Given the description of an element on the screen output the (x, y) to click on. 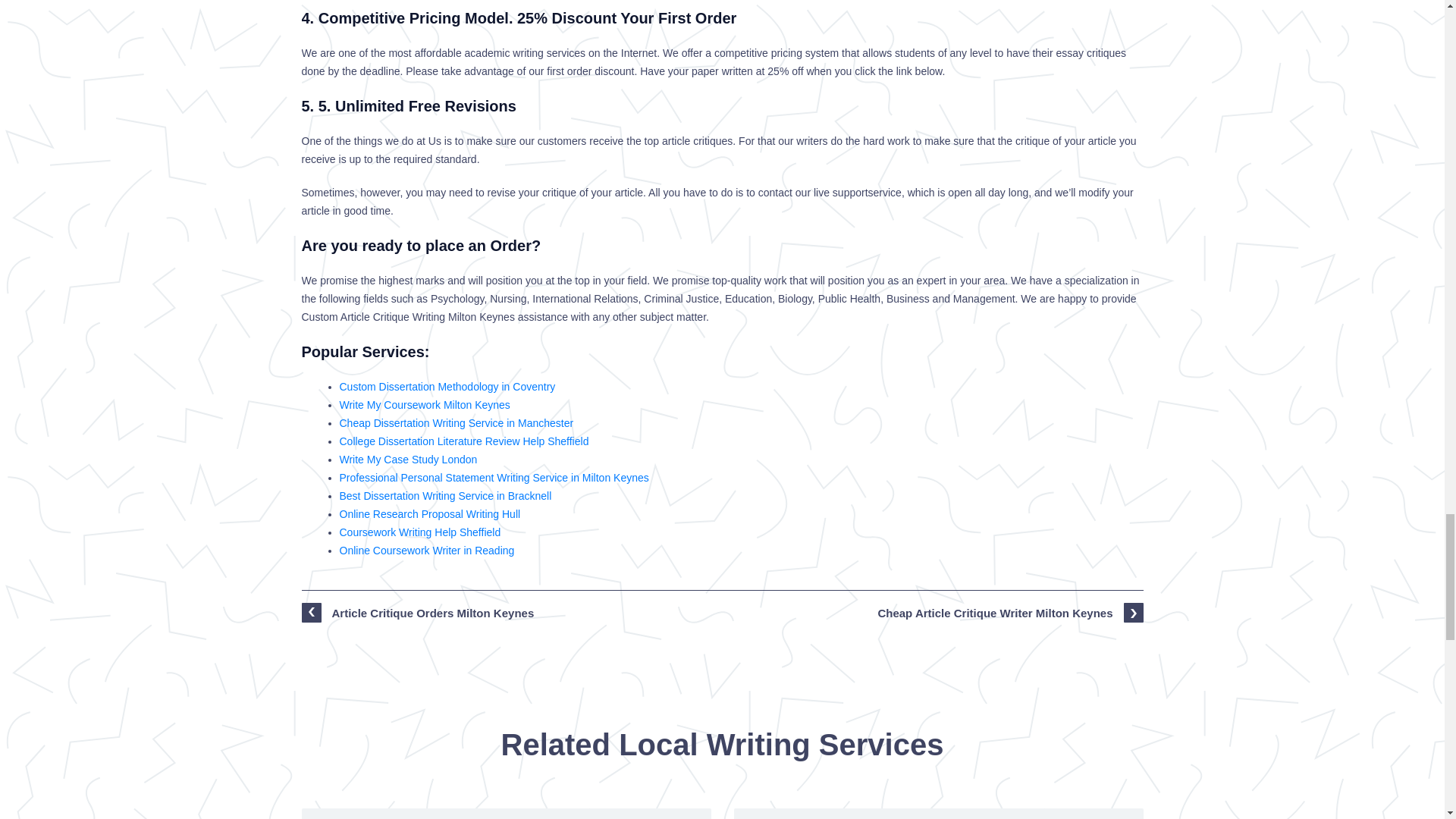
Coursework Writing Help Sheffield (419, 532)
Write My Case Study London (408, 459)
Article Critique Orders Milton Keynes (506, 813)
Cheap Dissertation Writing Service in Manchester (456, 422)
Bracknell Custom Article Critique Writing Service (937, 813)
Write My Coursework Milton Keynes (425, 404)
College Dissertation Literature Review Help Sheffield (464, 440)
Custom Dissertation Methodology in Coventry (447, 386)
Online Coursework Writer in Reading (427, 550)
Best Dissertation Writing Service in Bracknell (445, 495)
